Given the description of an element on the screen output the (x, y) to click on. 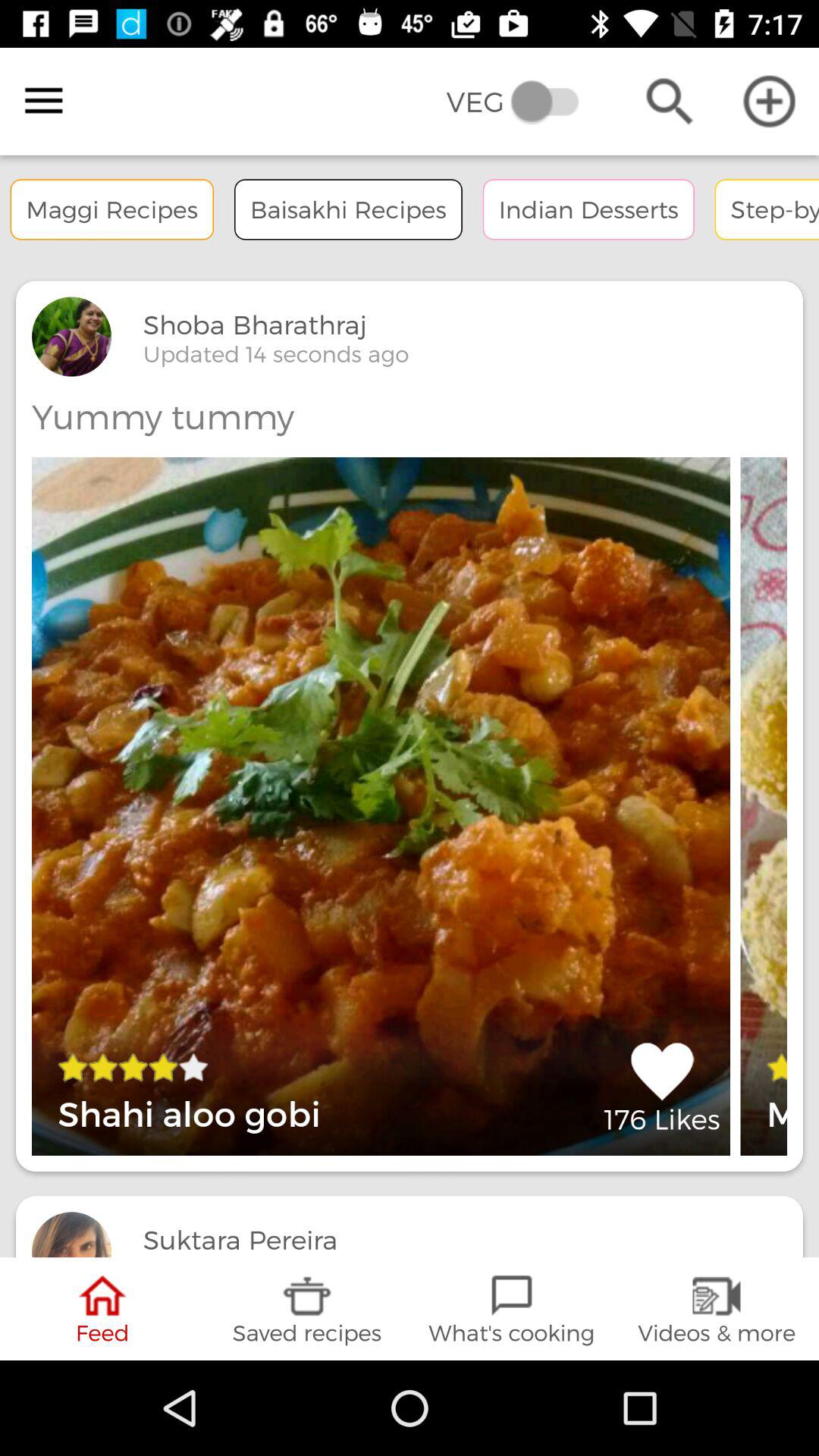
launch icon next to the saved recipes icon (511, 1308)
